Given the description of an element on the screen output the (x, y) to click on. 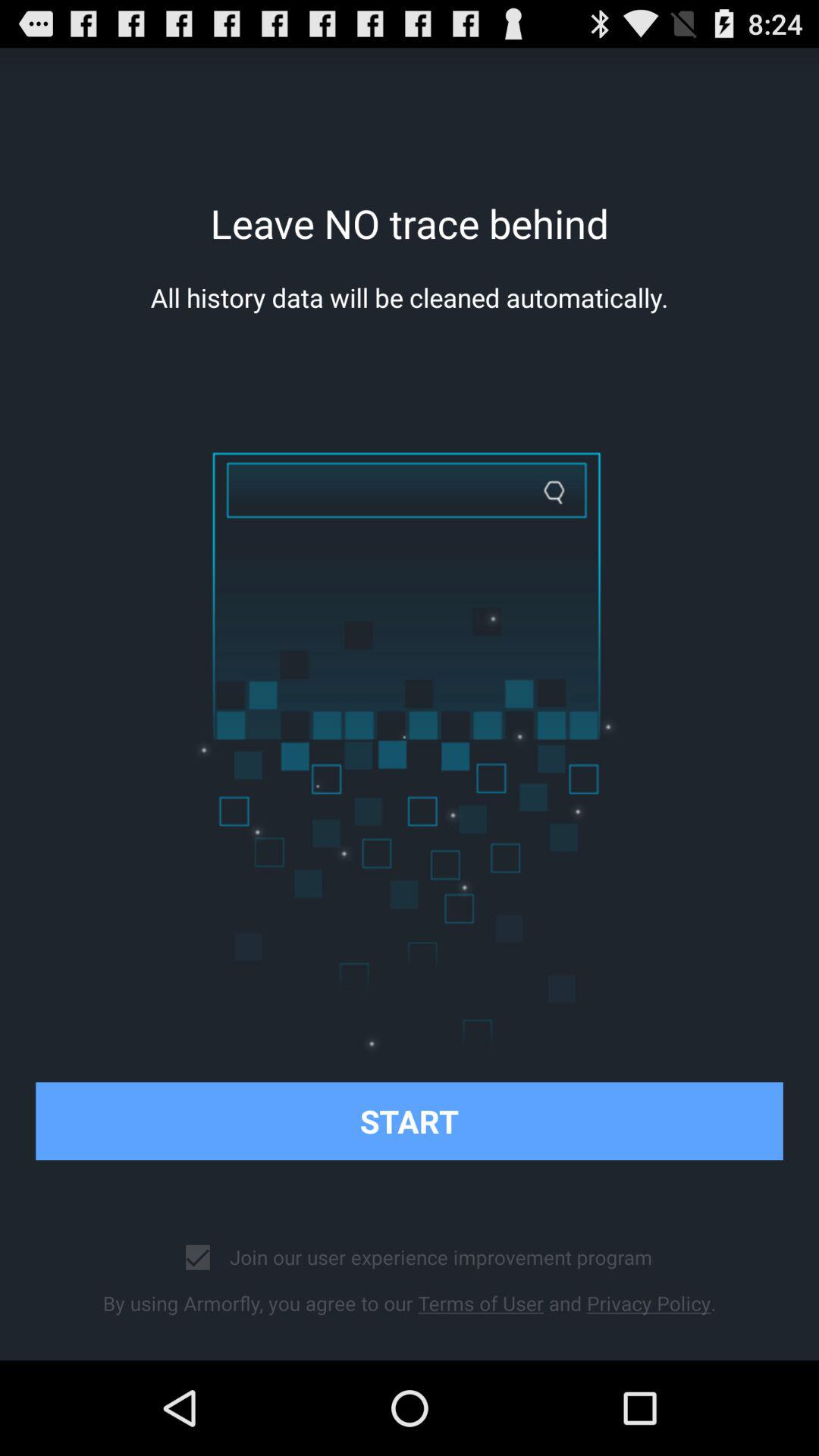
launch start item (409, 1121)
